Given the description of an element on the screen output the (x, y) to click on. 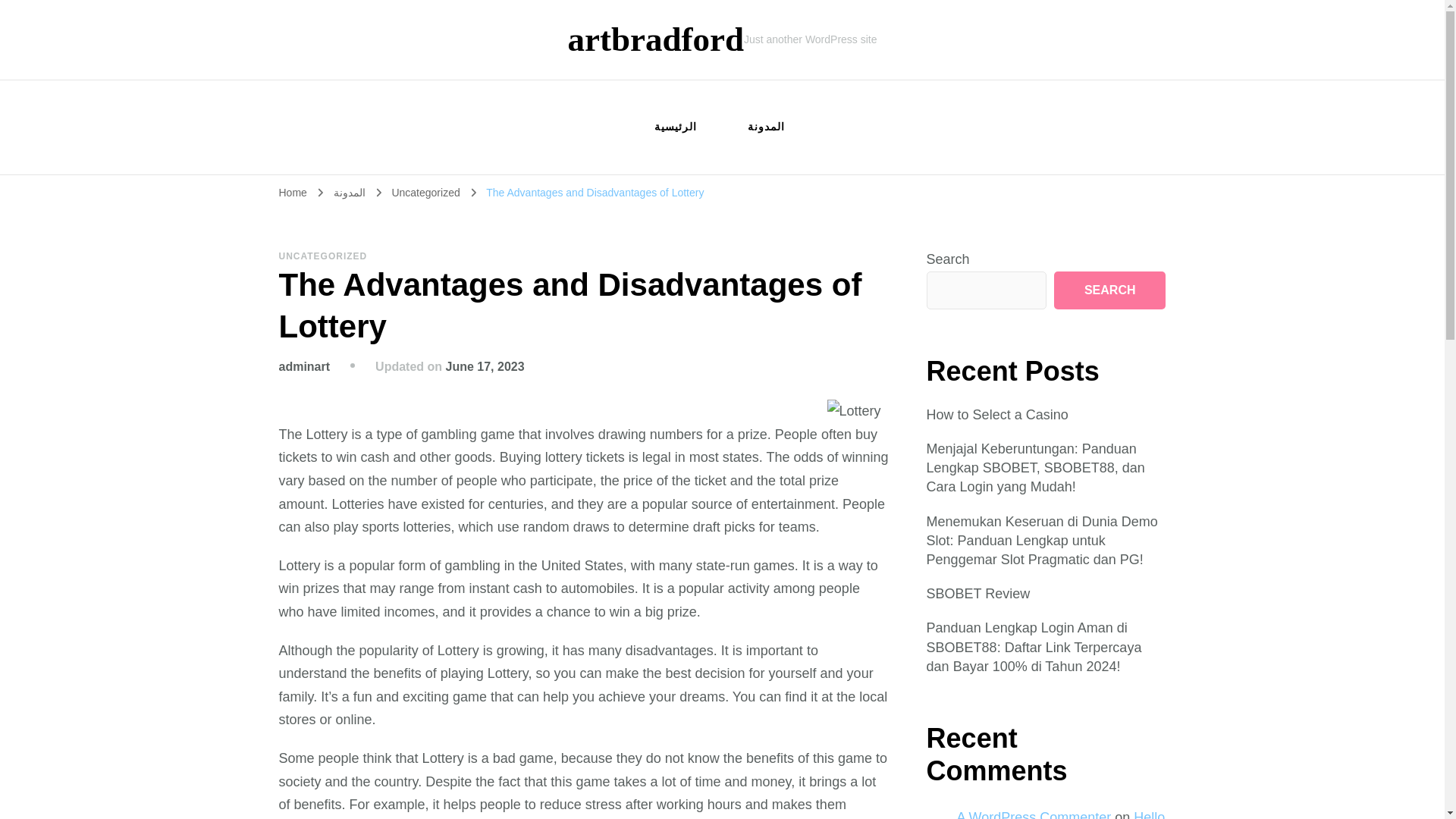
UNCATEGORIZED (323, 255)
Home (293, 192)
adminart (304, 366)
artbradford (654, 39)
SEARCH (1110, 290)
Uncategorized (427, 192)
Hello world! (1061, 814)
A WordPress Commenter (1034, 814)
June 17, 2023 (484, 366)
